Given the description of an element on the screen output the (x, y) to click on. 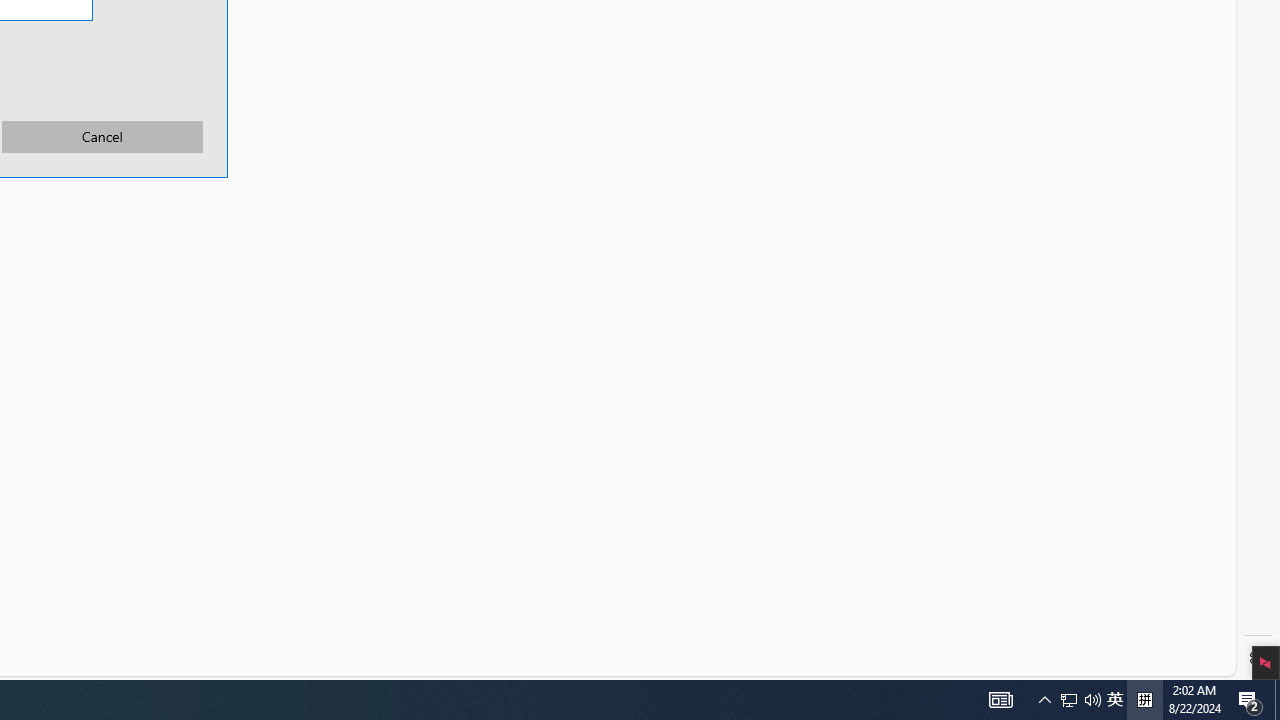
AutomationID: 4105 (1000, 699)
Action Center, 2 new notifications (1250, 699)
Cancel (102, 136)
Notification Chevron (1044, 699)
Q2790: 100% (1115, 699)
Show desktop (1092, 699)
User Promoted Notification Area (1277, 699)
Tray Input Indicator - Chinese (Simplified, China) (1080, 699)
